Given the description of an element on the screen output the (x, y) to click on. 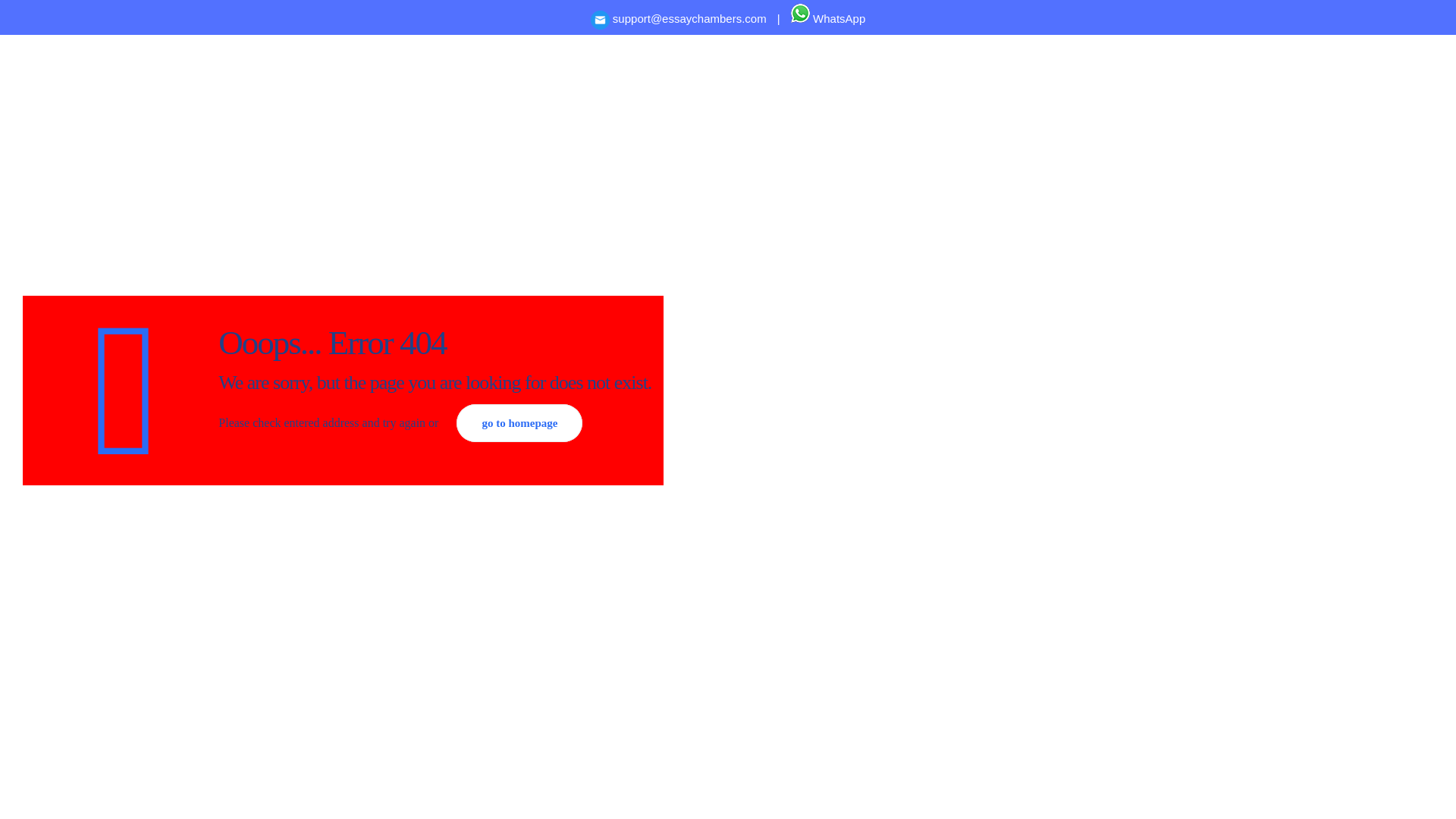
WhatsApp (827, 18)
go to homepage (519, 423)
WhatsApp (827, 18)
